Given the description of an element on the screen output the (x, y) to click on. 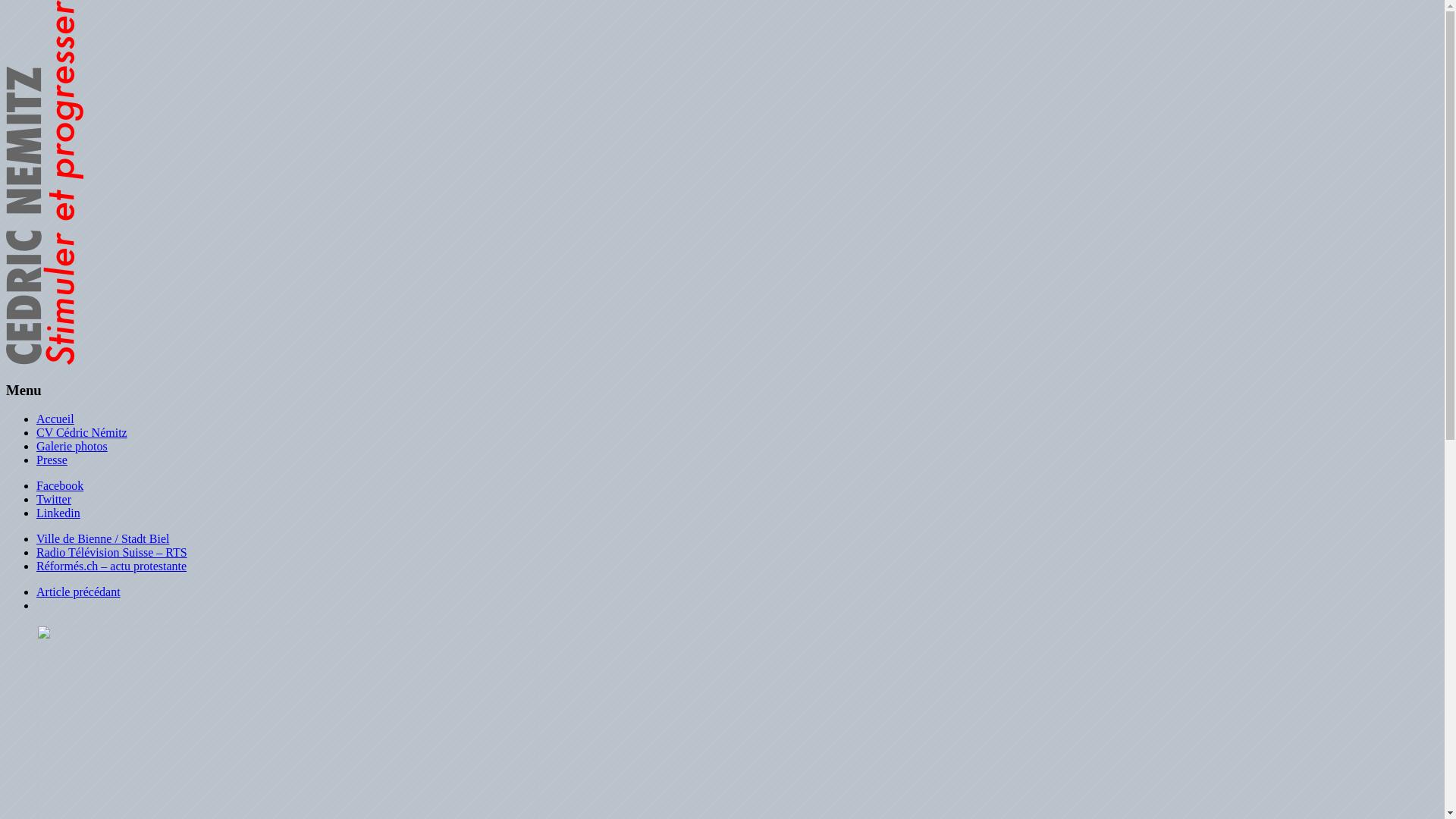
Galerie photos Element type: text (71, 445)
Facebook Element type: text (59, 485)
Ville de Bienne / Stadt Biel Element type: text (102, 538)
Twitter Element type: text (53, 498)
Linkedin Element type: text (58, 512)
Presse Element type: text (51, 459)
Accueil Element type: text (55, 418)
